Given the description of an element on the screen output the (x, y) to click on. 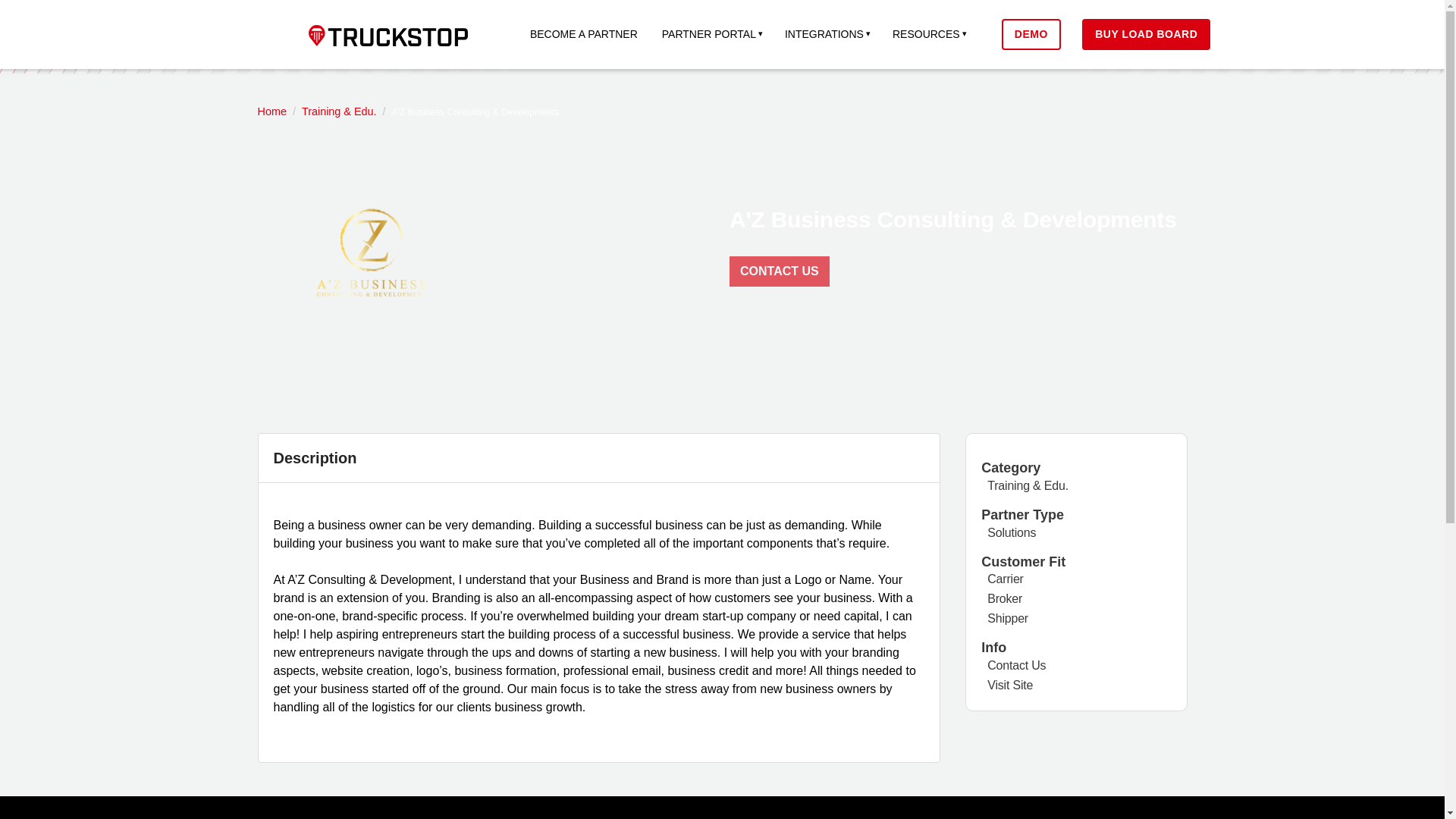
DEMO (1031, 33)
INTEGRATIONS (826, 34)
RESOURCES (928, 34)
BUY LOAD BOARD (1145, 33)
PARTNER PORTAL (711, 34)
BECOME A PARTNER (583, 34)
